Given the description of an element on the screen output the (x, y) to click on. 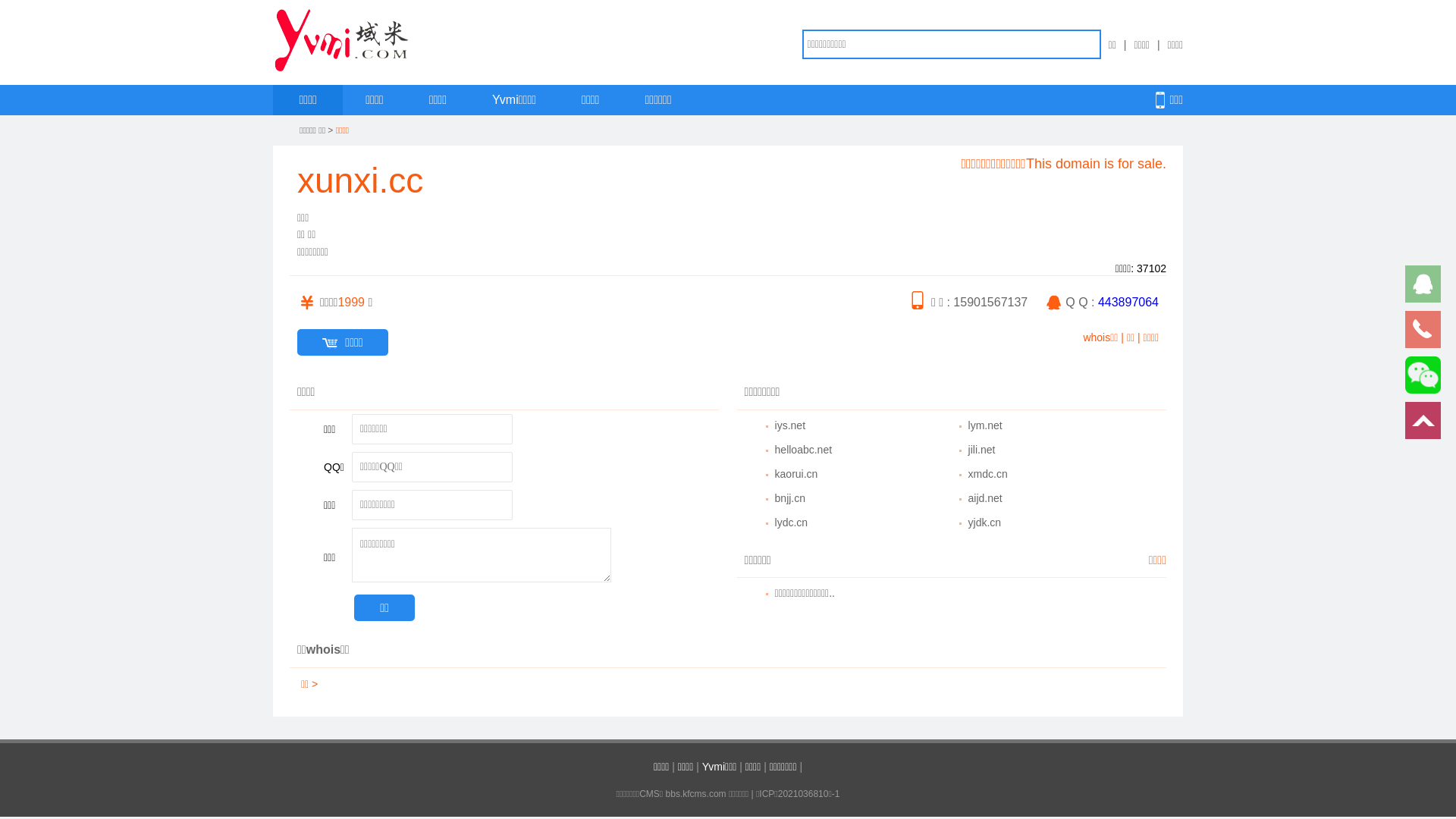
| Element type: text (1124, 44)
| Element type: text (1158, 44)
yjdk.cn Element type: text (984, 522)
iys.net Element type: text (790, 425)
aijd.net Element type: text (985, 498)
lym.net Element type: text (985, 425)
lydc.cn Element type: text (791, 522)
bnjj.cn Element type: text (790, 498)
jili.net Element type: text (981, 449)
xmdc.cn Element type: text (987, 473)
kaorui.cn Element type: text (796, 473)
443897064 Element type: text (1128, 301)
helloabc.net Element type: text (803, 449)
